Given the description of an element on the screen output the (x, y) to click on. 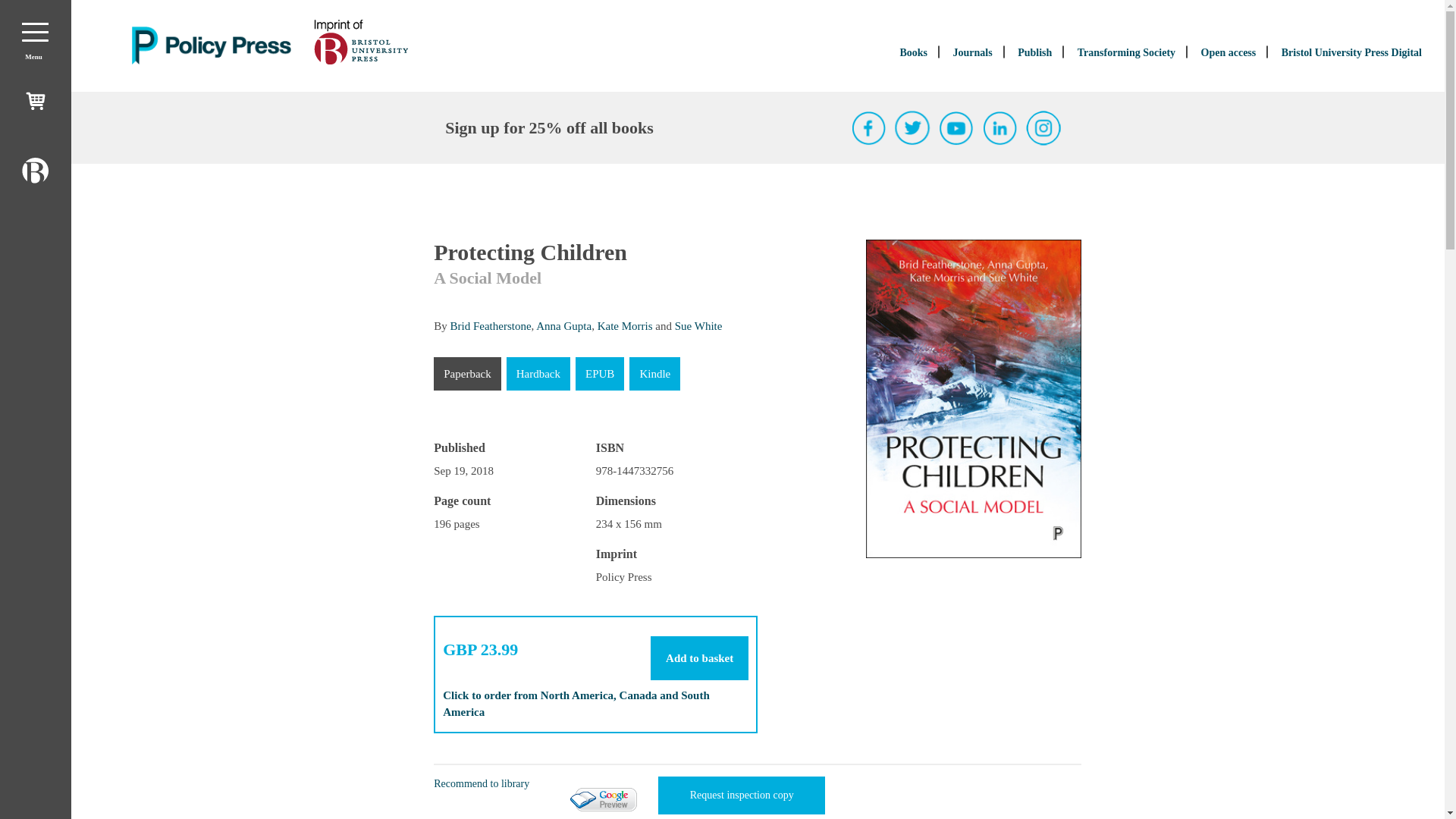
YouTube page (956, 127)
Toggle navigation (34, 31)
Twitter page (912, 127)
Instagram page (1043, 127)
Facebook page (868, 127)
LinkedIn page (999, 127)
